Given the description of an element on the screen output the (x, y) to click on. 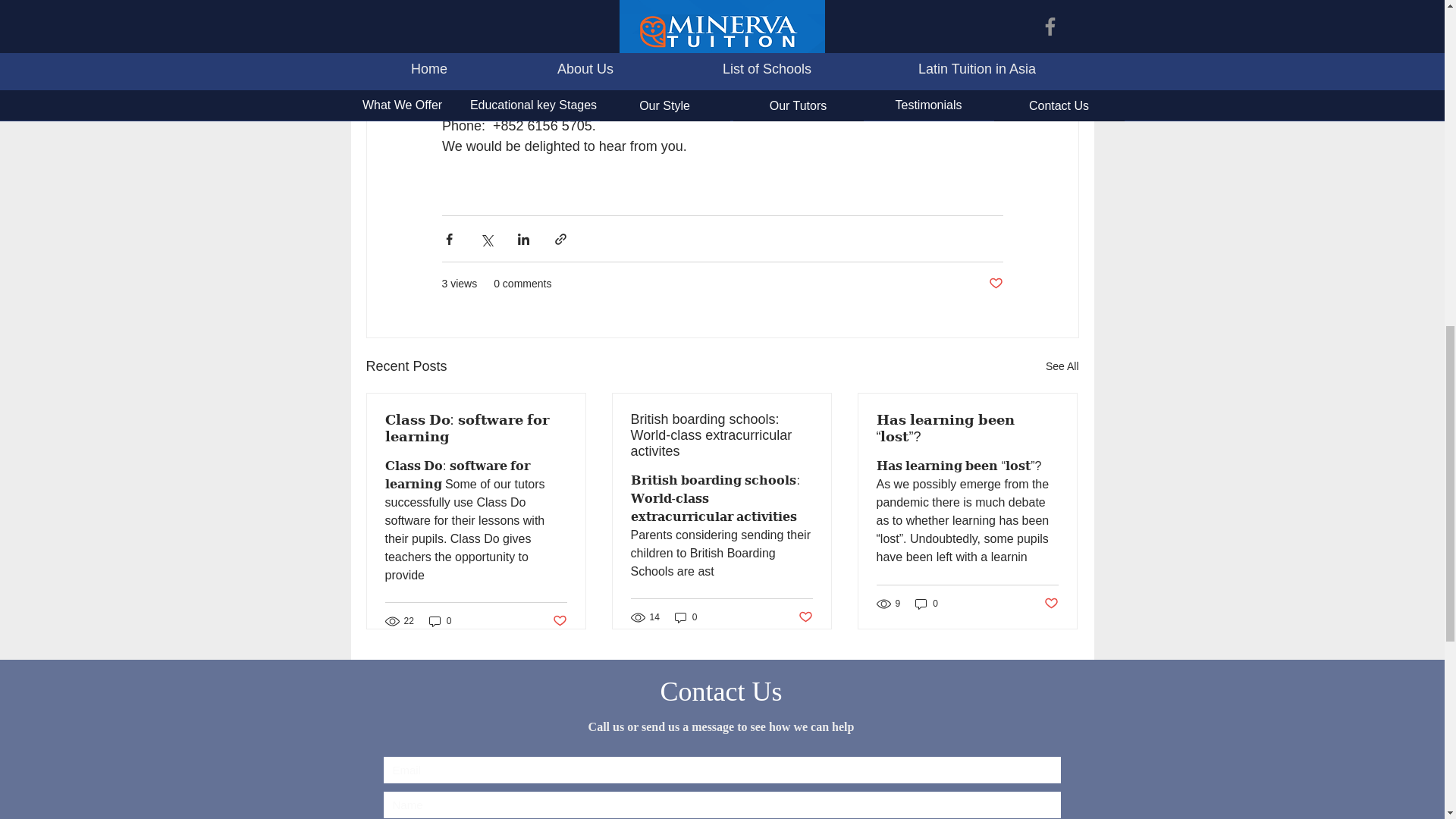
Post not marked as liked (1050, 603)
See All (1061, 366)
Post not marked as liked (804, 617)
Post not marked as liked (995, 283)
0 (440, 621)
Post not marked as liked (558, 620)
0 (685, 616)
0 (926, 603)
